Given the description of an element on the screen output the (x, y) to click on. 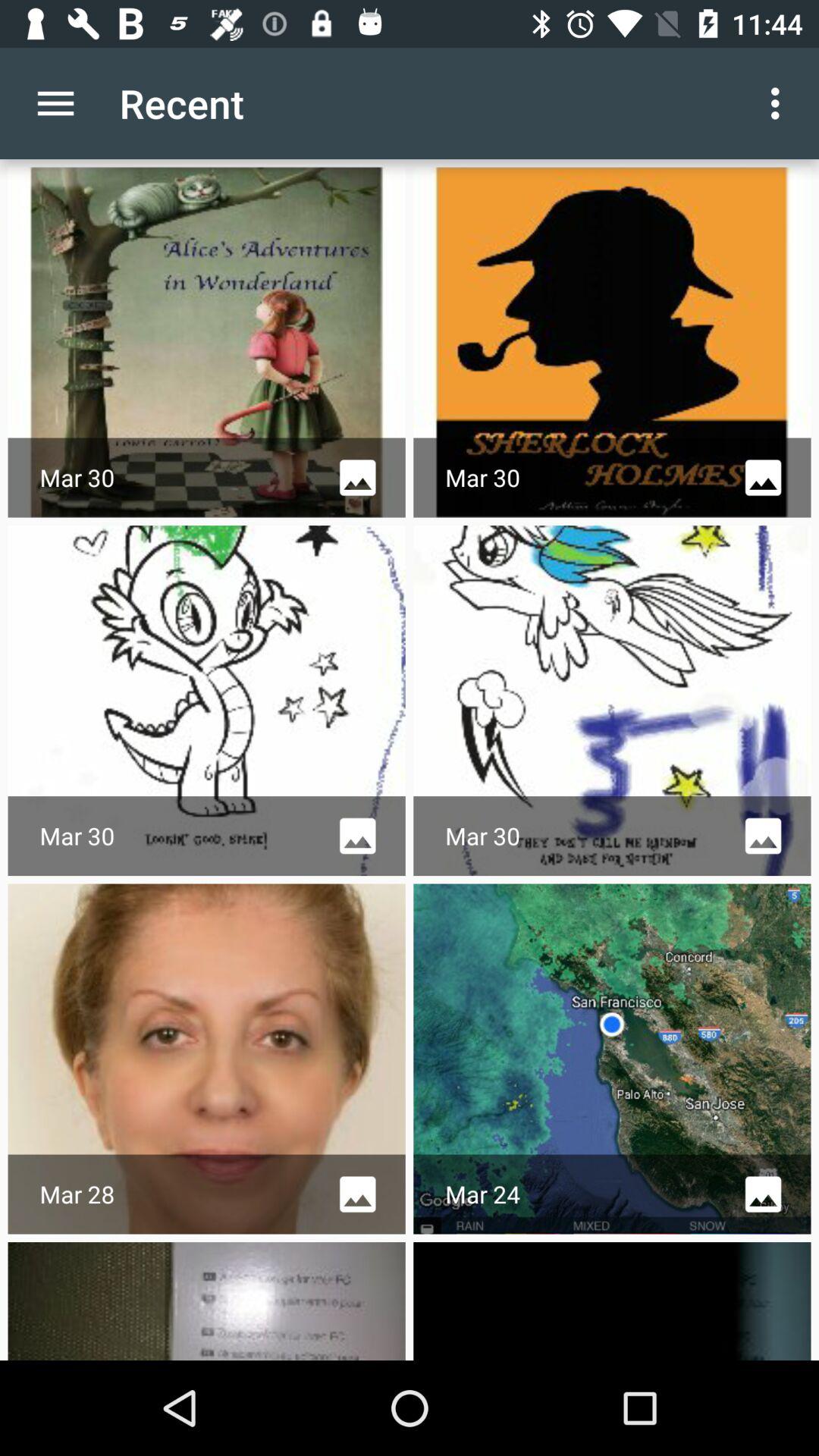
launch icon next to recent app (55, 103)
